Given the description of an element on the screen output the (x, y) to click on. 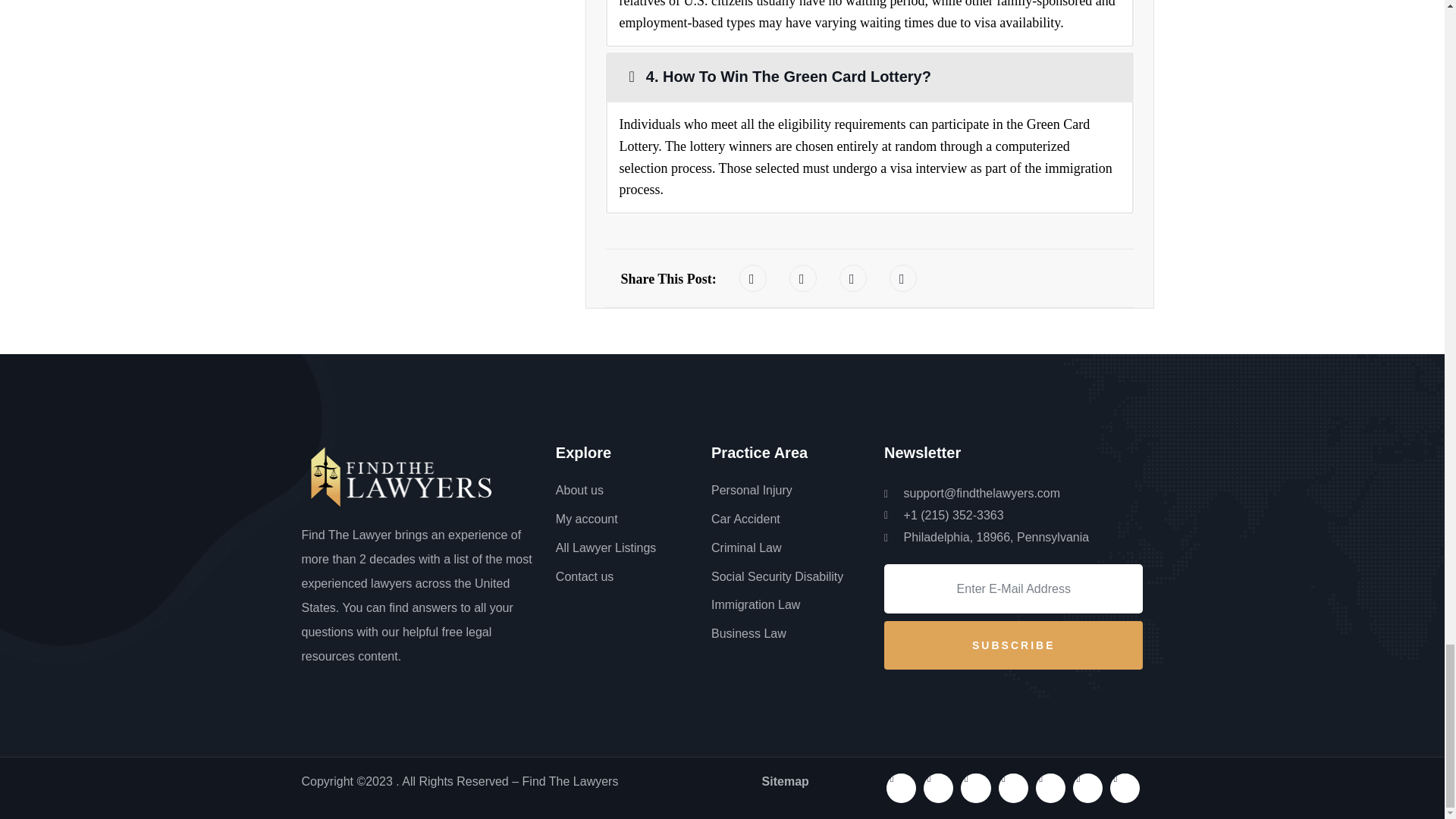
Subscribe (1012, 644)
Home (400, 476)
